Given the description of an element on the screen output the (x, y) to click on. 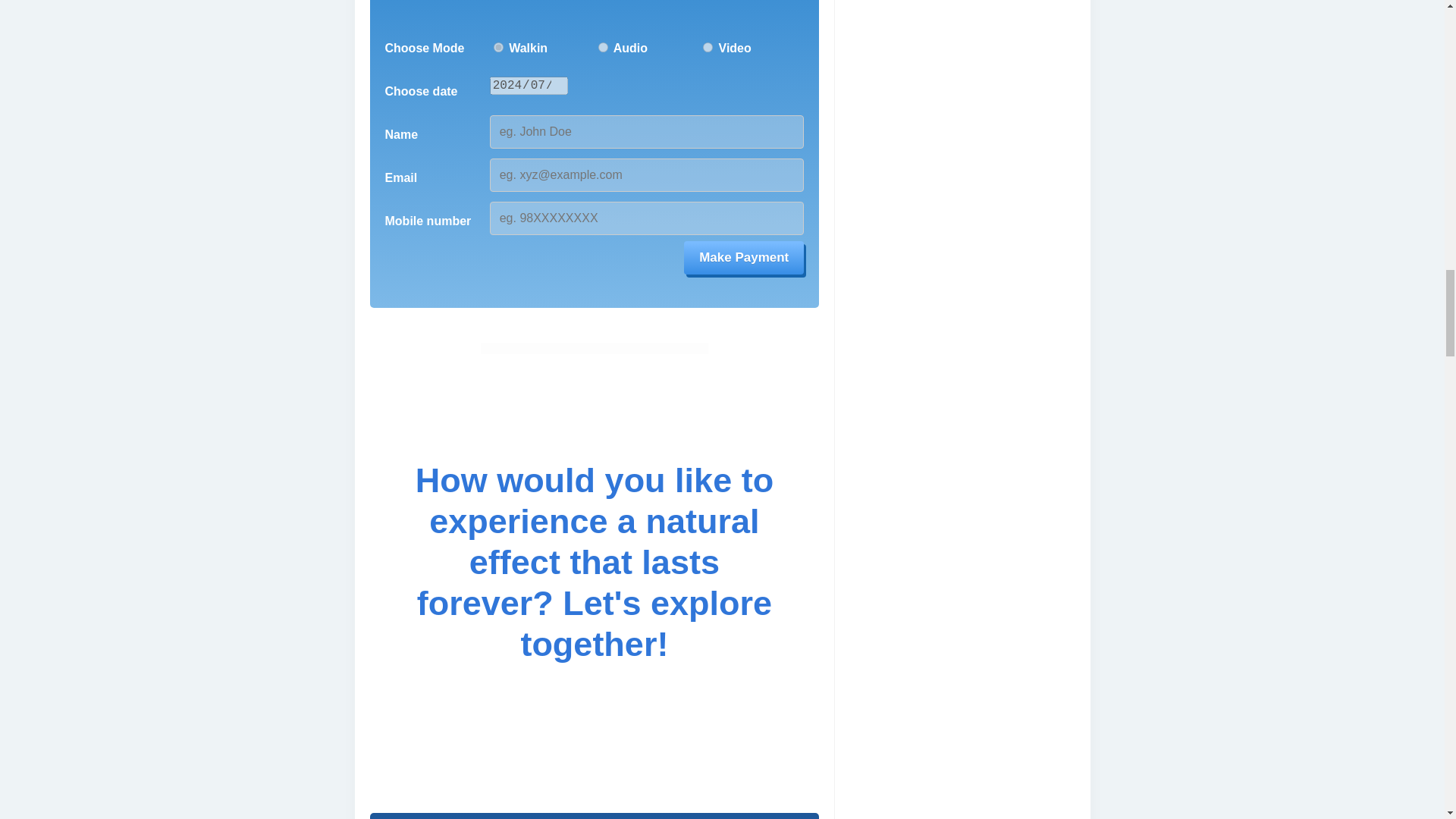
Audio (603, 47)
2024-07-17 (529, 85)
Make Payment (743, 257)
Walkin (498, 47)
Video (708, 47)
